Given the description of an element on the screen output the (x, y) to click on. 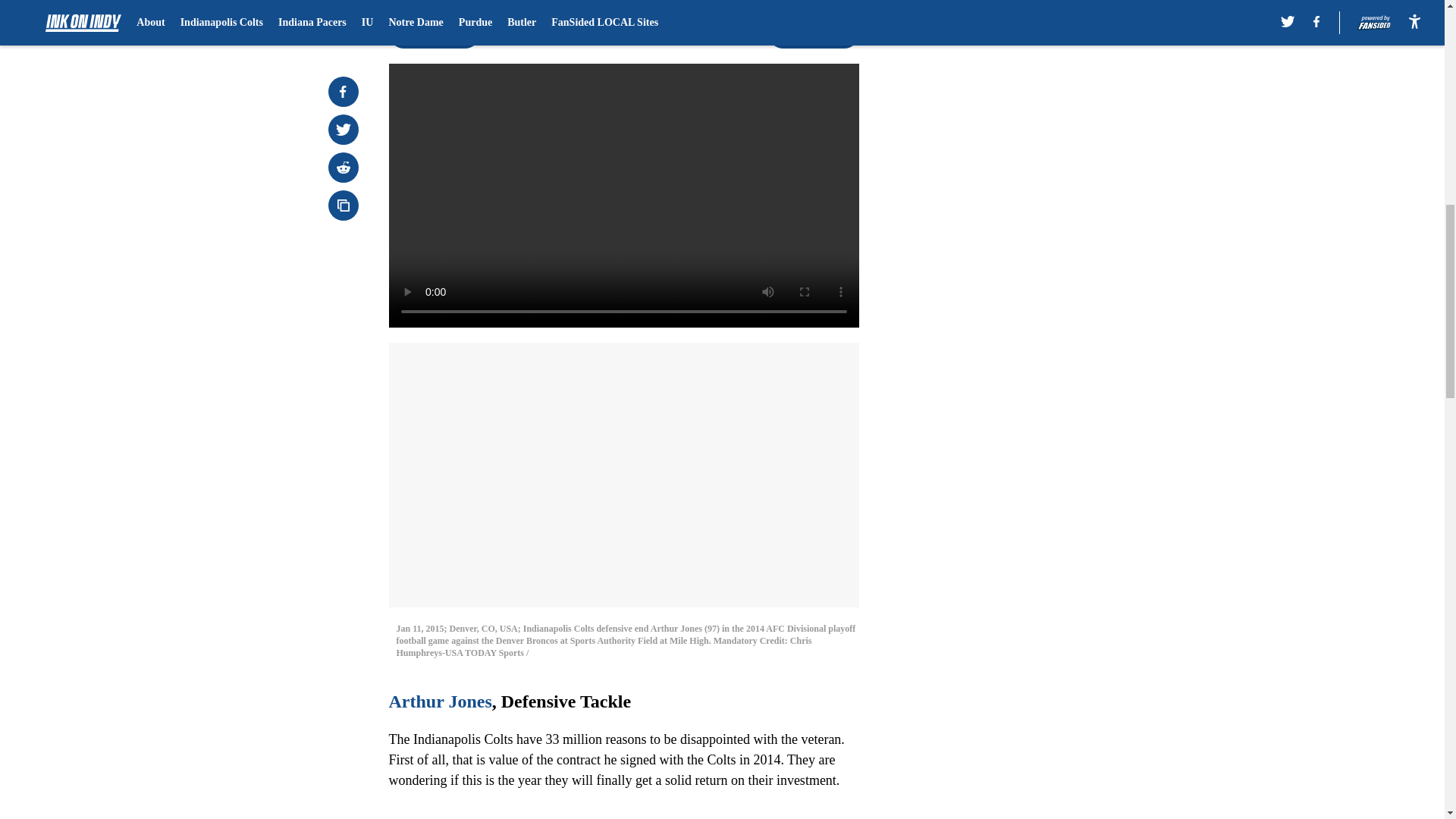
3rd party ad content (1047, 113)
Arthur Jones (440, 701)
Prev (433, 33)
3rd party ad content (1047, 332)
Next (813, 33)
